Given the description of an element on the screen output the (x, y) to click on. 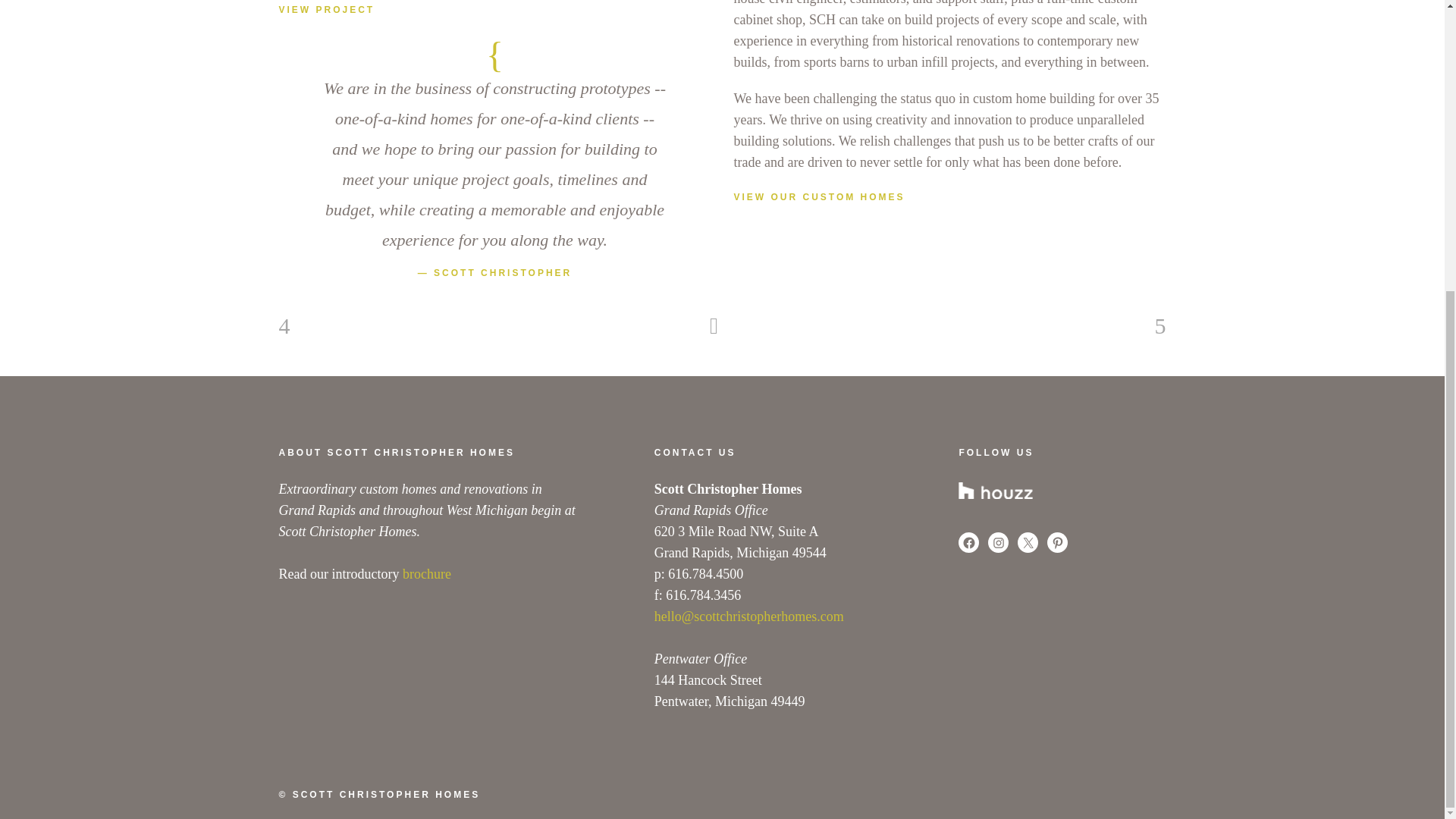
VIEW PROJECT (327, 9)
VIEW OUR CUSTOM HOMES (819, 196)
brochure (427, 573)
